Given the description of an element on the screen output the (x, y) to click on. 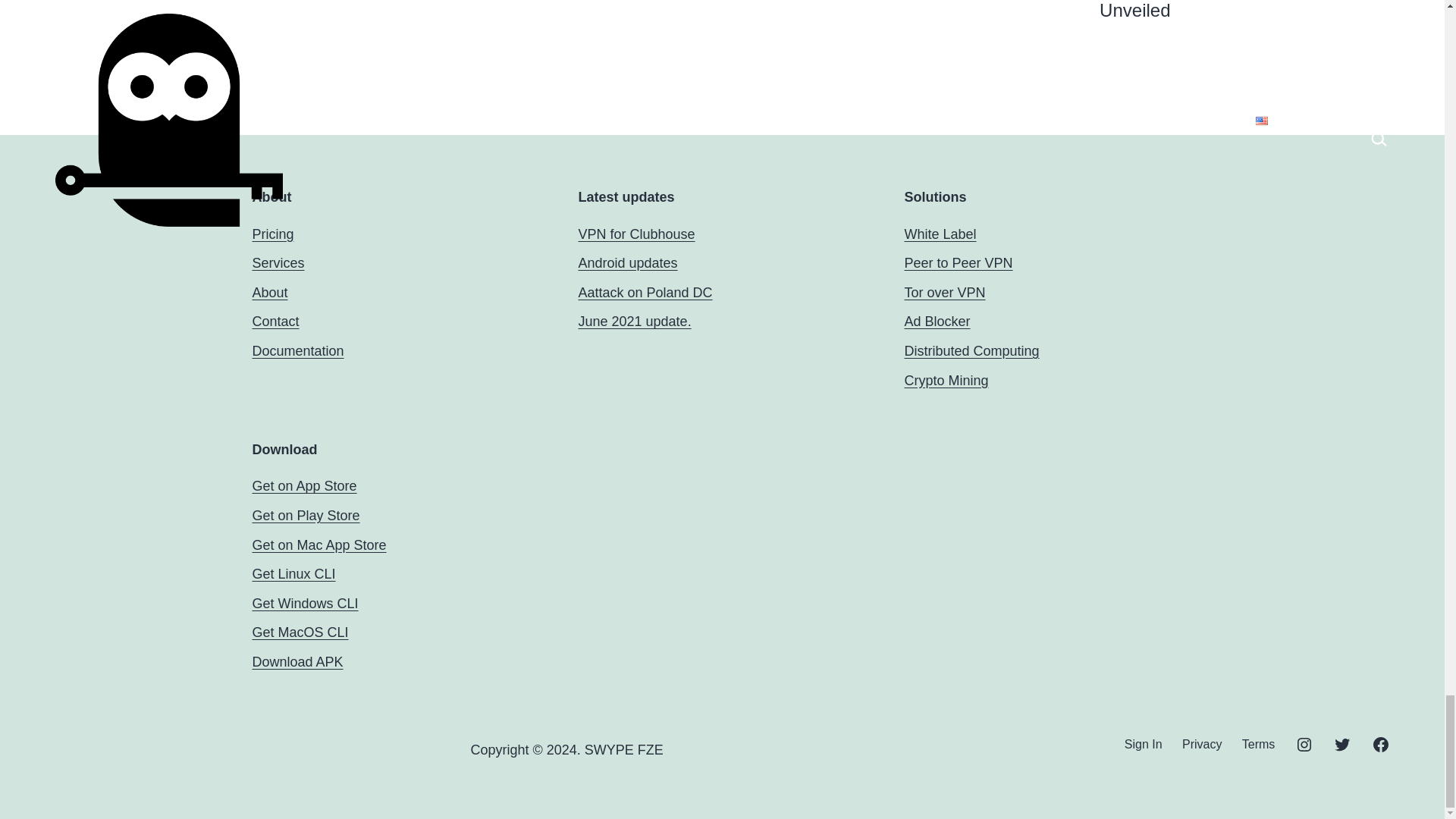
VPN for Clubhouse (636, 233)
Services (277, 263)
Android updates (627, 263)
Get on App Store (303, 485)
White Label (939, 233)
Distributed Computing (971, 350)
Pricing (272, 233)
Get on Play Store (305, 515)
About (268, 292)
Get on Mac App Store (318, 544)
Tor over VPN (944, 292)
Crypto Mining (946, 380)
Peer to Peer VPN (957, 263)
Get Linux CLI (292, 573)
